Given the description of an element on the screen output the (x, y) to click on. 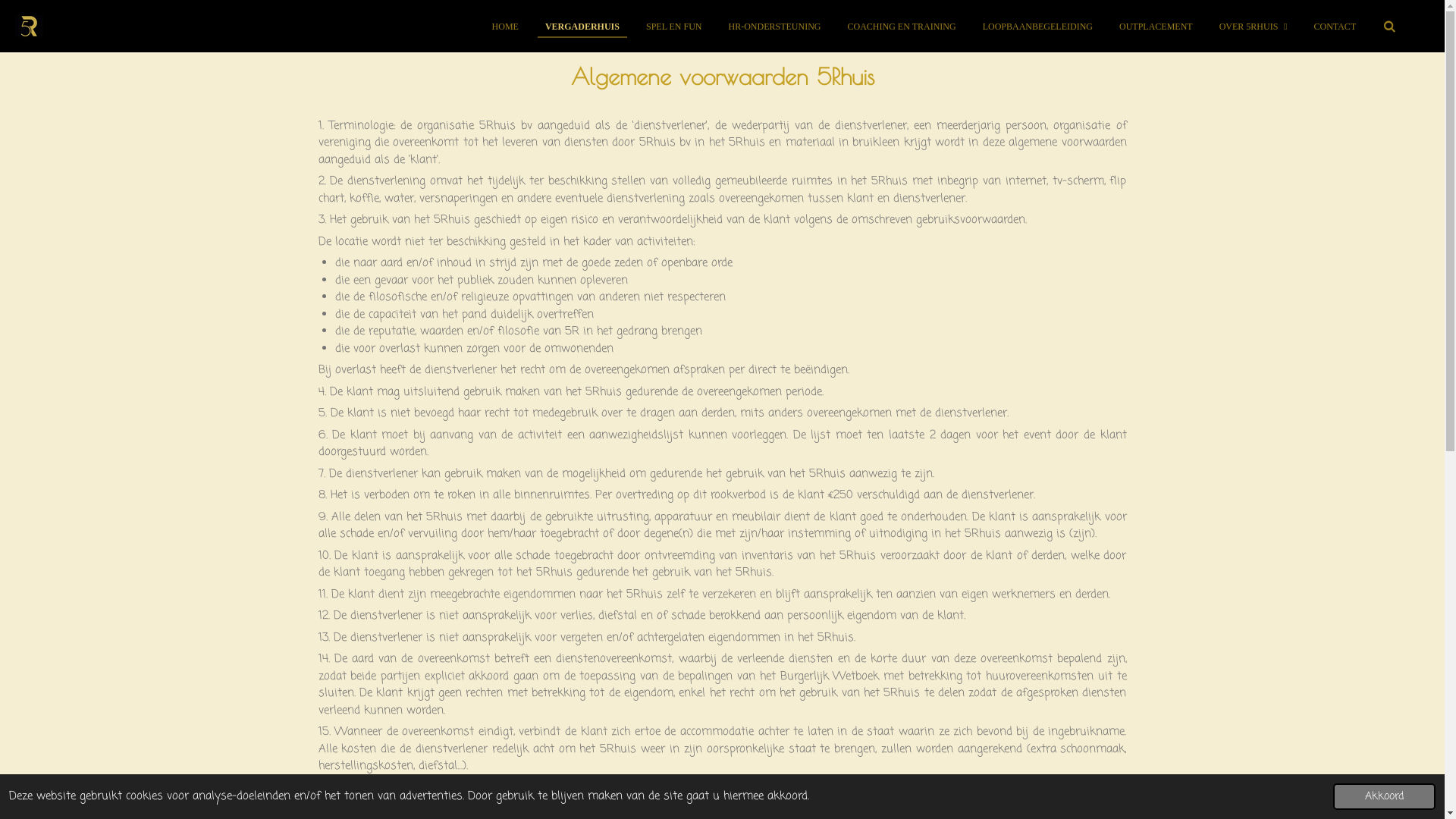
OUTPLACEMENT Element type: text (1155, 26)
LOOPBAANBEGELEIDING Element type: text (1037, 26)
Zoeken Element type: hover (1388, 26)
CONTACT Element type: text (1334, 26)
HOME Element type: text (505, 26)
HR-ONDERSTEUNING Element type: text (774, 26)
COACHING EN TRAINING Element type: text (901, 26)
SPEL EN FUN Element type: text (673, 26)
5R Element type: hover (29, 26)
Akkoord Element type: text (1384, 796)
OVER 5RHUIS Element type: text (1253, 26)
VERGADERHUIS Element type: text (582, 26)
